Given the description of an element on the screen output the (x, y) to click on. 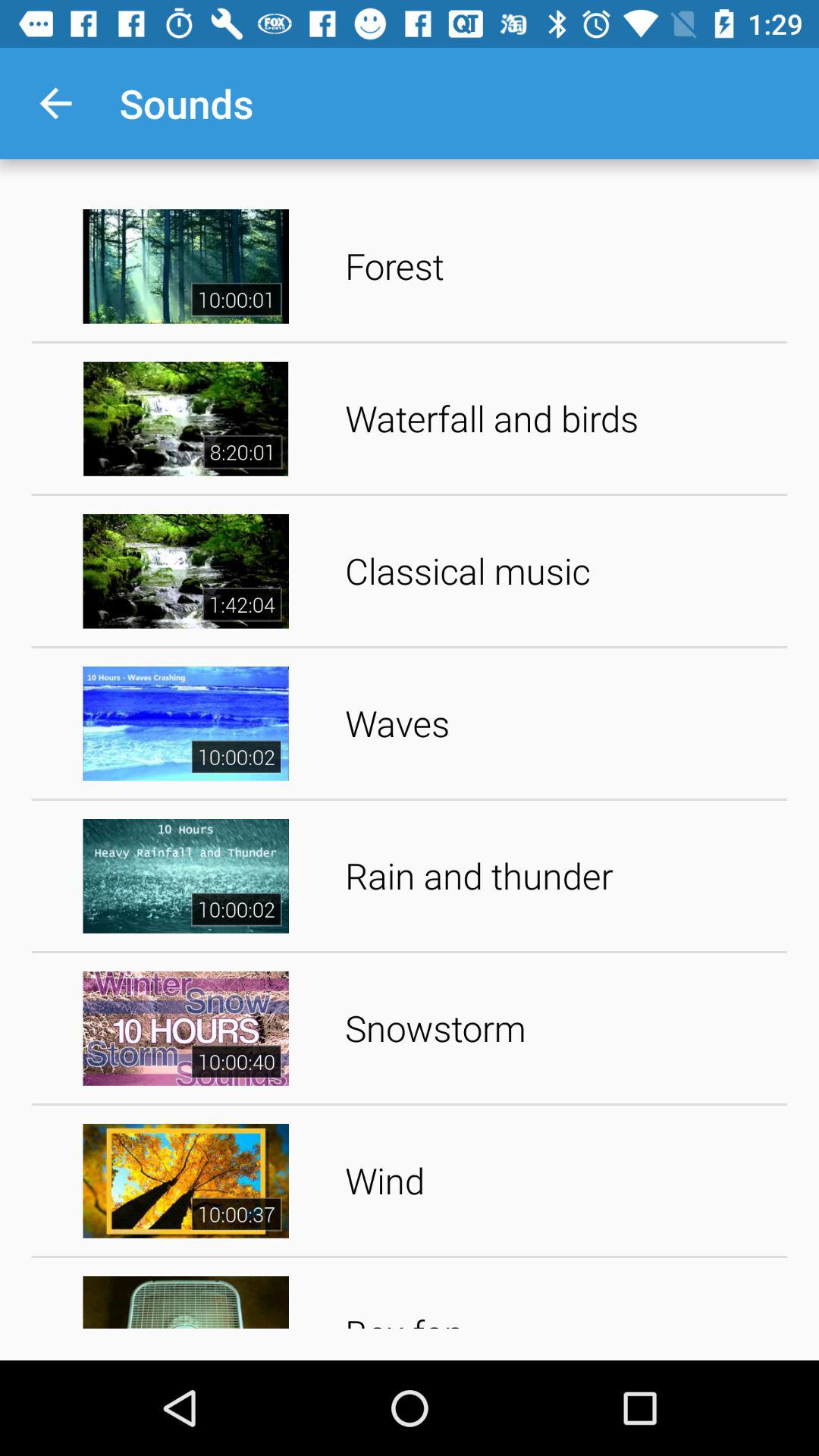
choose the rain and thunder item (560, 875)
